Given the description of an element on the screen output the (x, y) to click on. 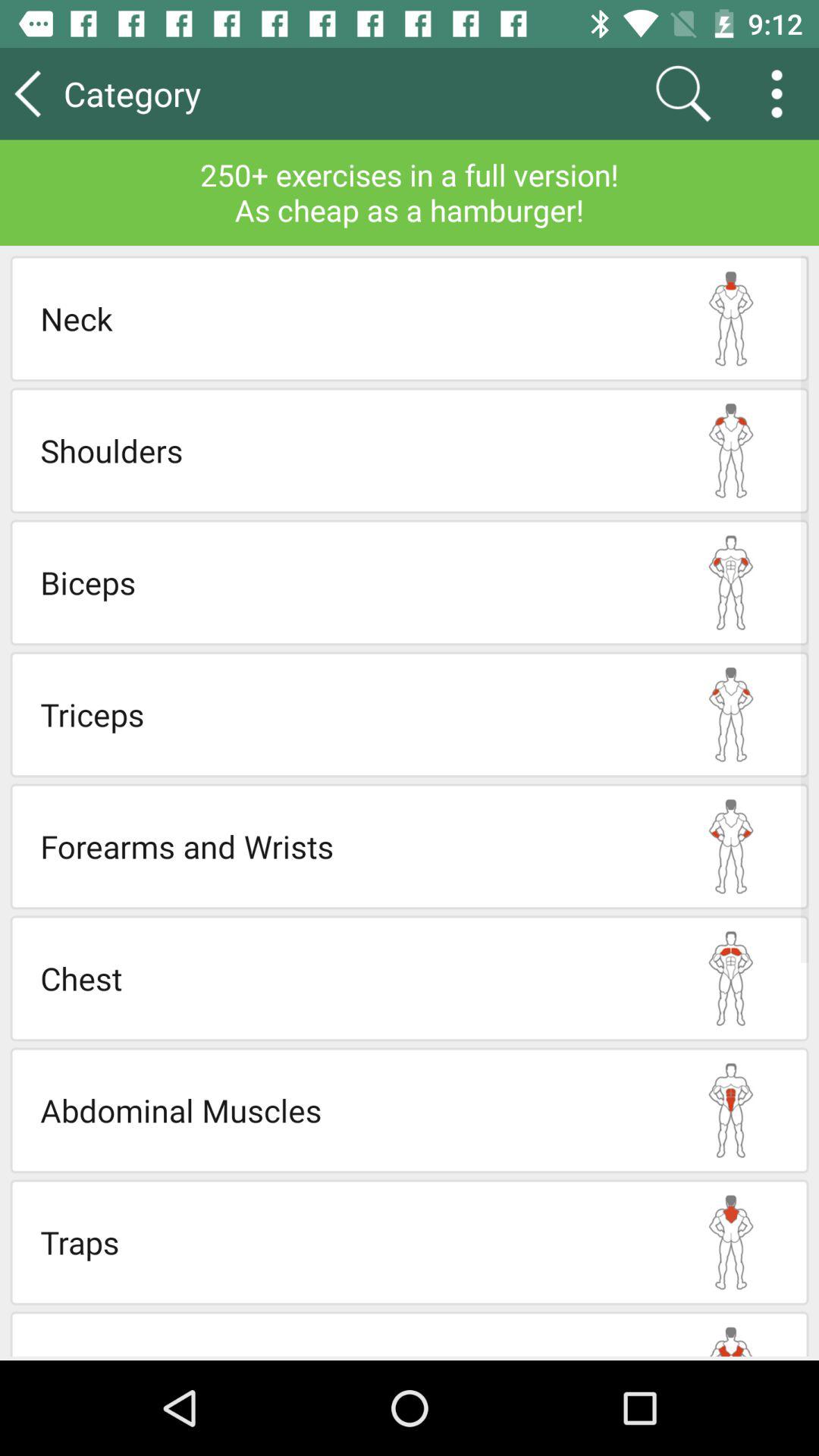
flip to abdominal muscles app (346, 1110)
